Given the description of an element on the screen output the (x, y) to click on. 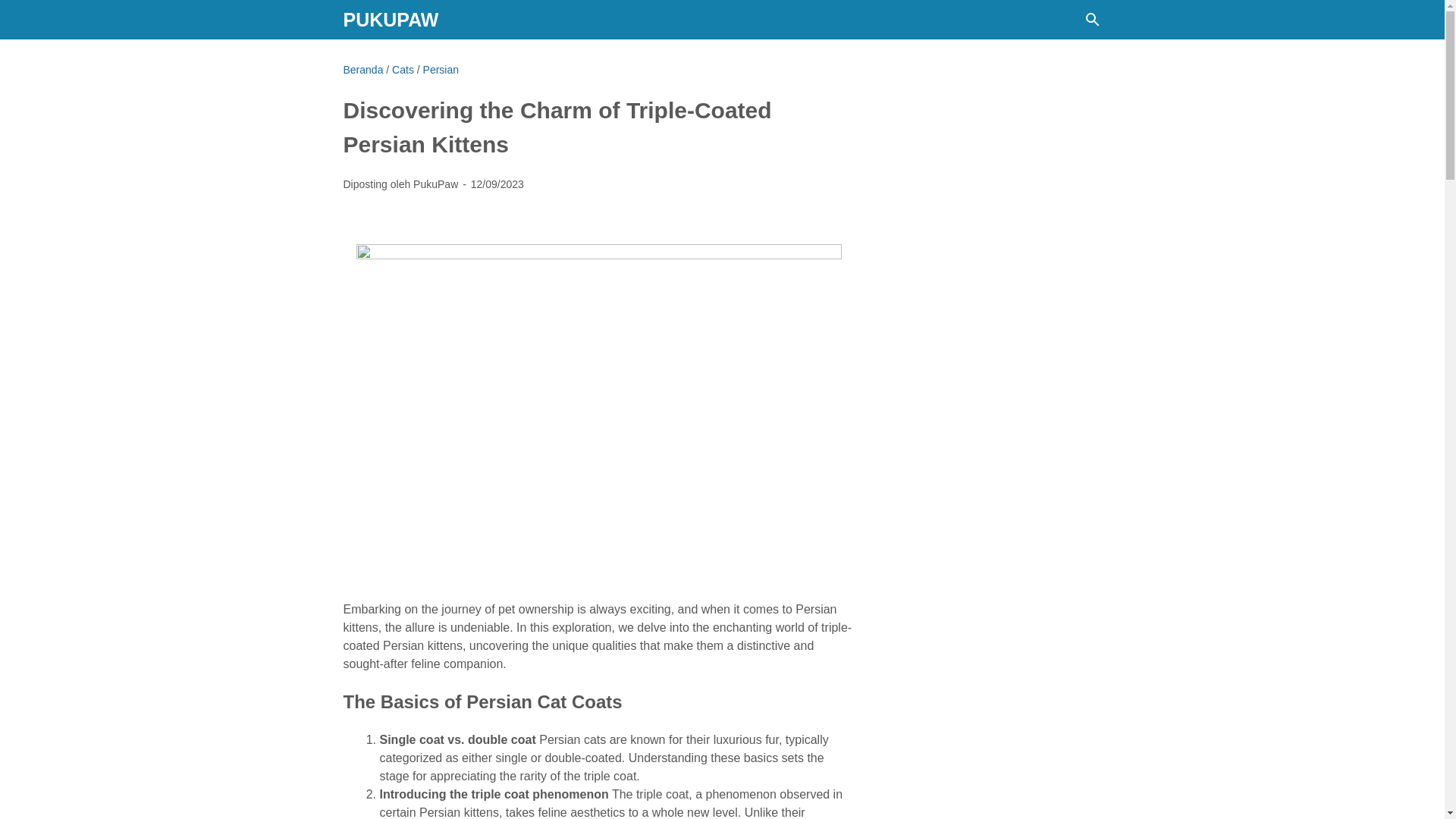
2023-12-09T10:18:00-08:00 (497, 184)
Home (362, 69)
Persian (440, 69)
Cats (402, 69)
Persian (440, 69)
PukuPaw (390, 19)
PUKUPAW (390, 19)
Beranda (362, 69)
Cari blog ini (1091, 19)
Cats (402, 69)
